Given the description of an element on the screen output the (x, y) to click on. 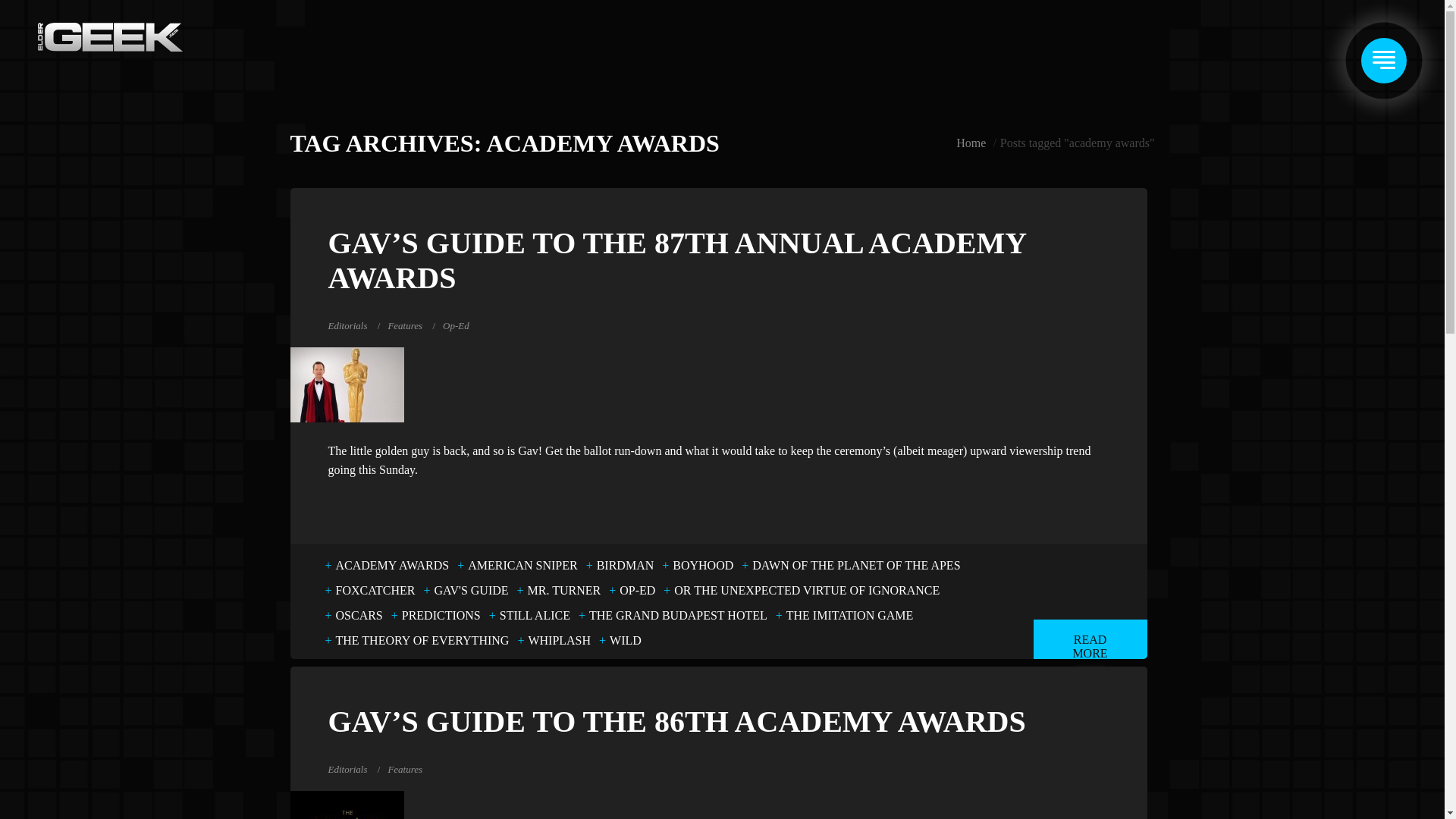
WILD (625, 640)
READ MORE (1089, 639)
Features (404, 325)
Editorials (346, 325)
Editorials (346, 768)
GAV'S GUIDE (470, 590)
Features (404, 768)
THE IMITATION GAME (849, 615)
Op-Ed (455, 325)
AMERICAN SNIPER (522, 565)
